Given the description of an element on the screen output the (x, y) to click on. 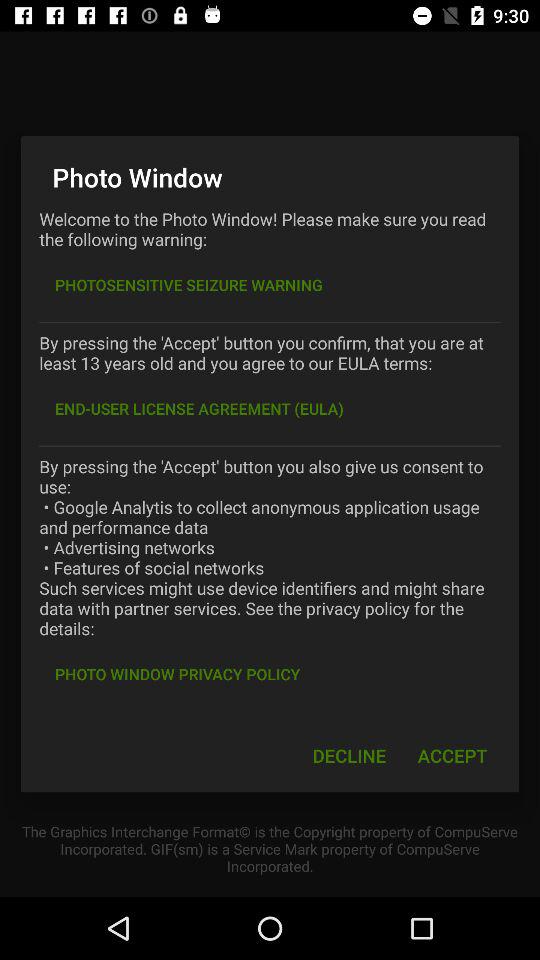
open the icon below the photo window privacy (349, 755)
